Given the description of an element on the screen output the (x, y) to click on. 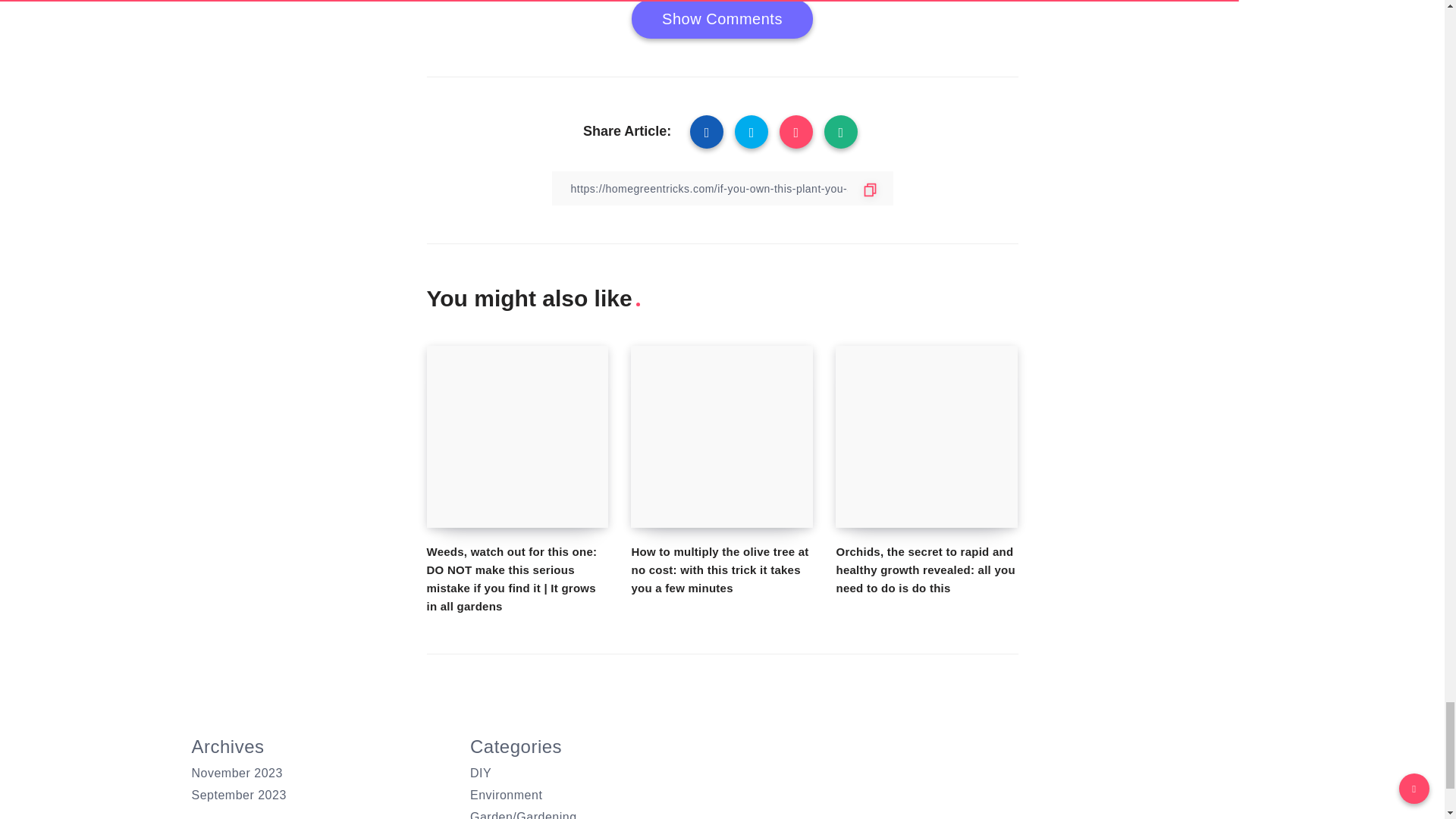
Environment (505, 794)
Show Comments (721, 19)
November 2023 (236, 772)
DIY (481, 772)
September 2023 (237, 794)
